Given the description of an element on the screen output the (x, y) to click on. 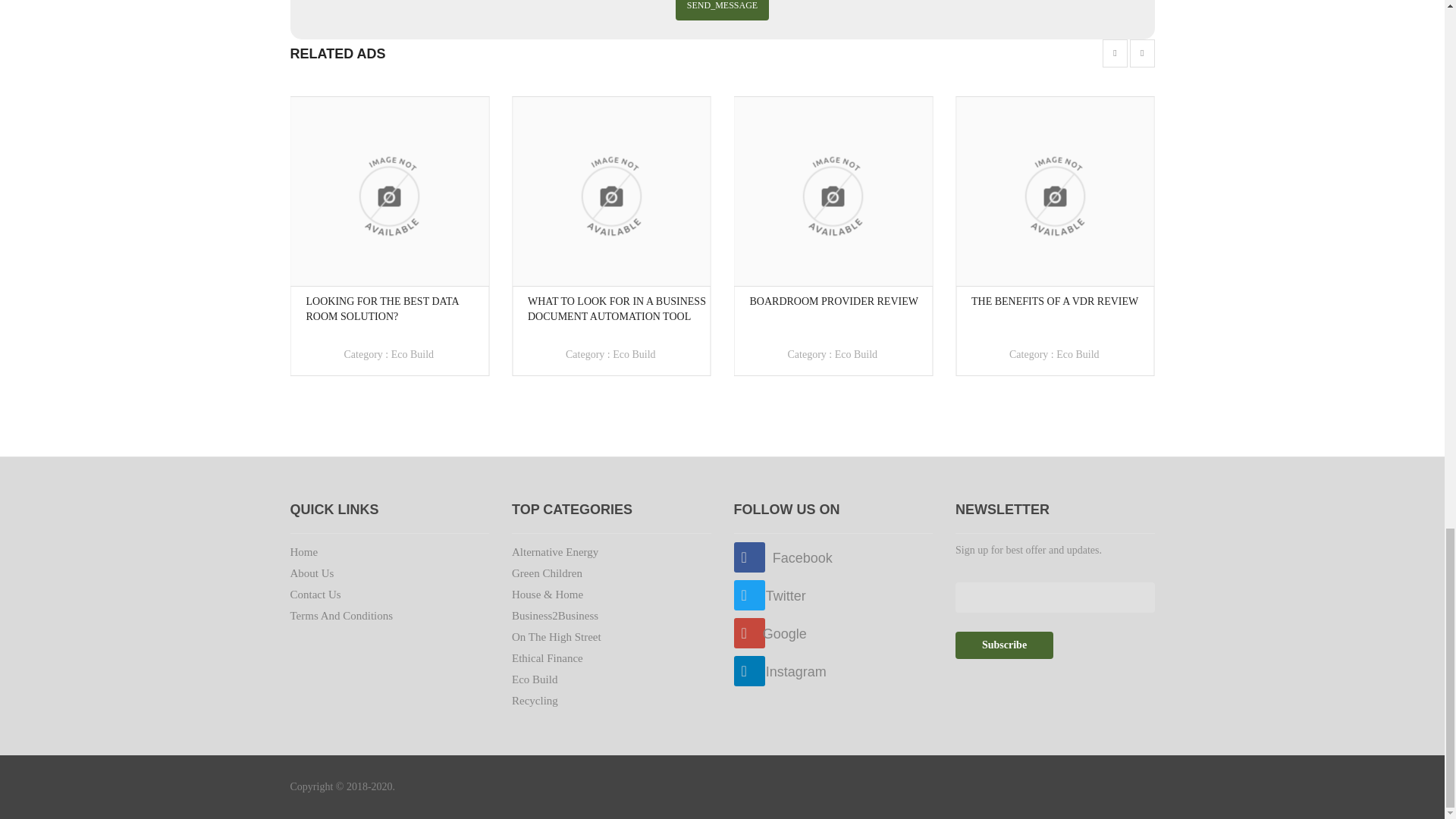
Subscribe (1003, 645)
